Given the description of an element on the screen output the (x, y) to click on. 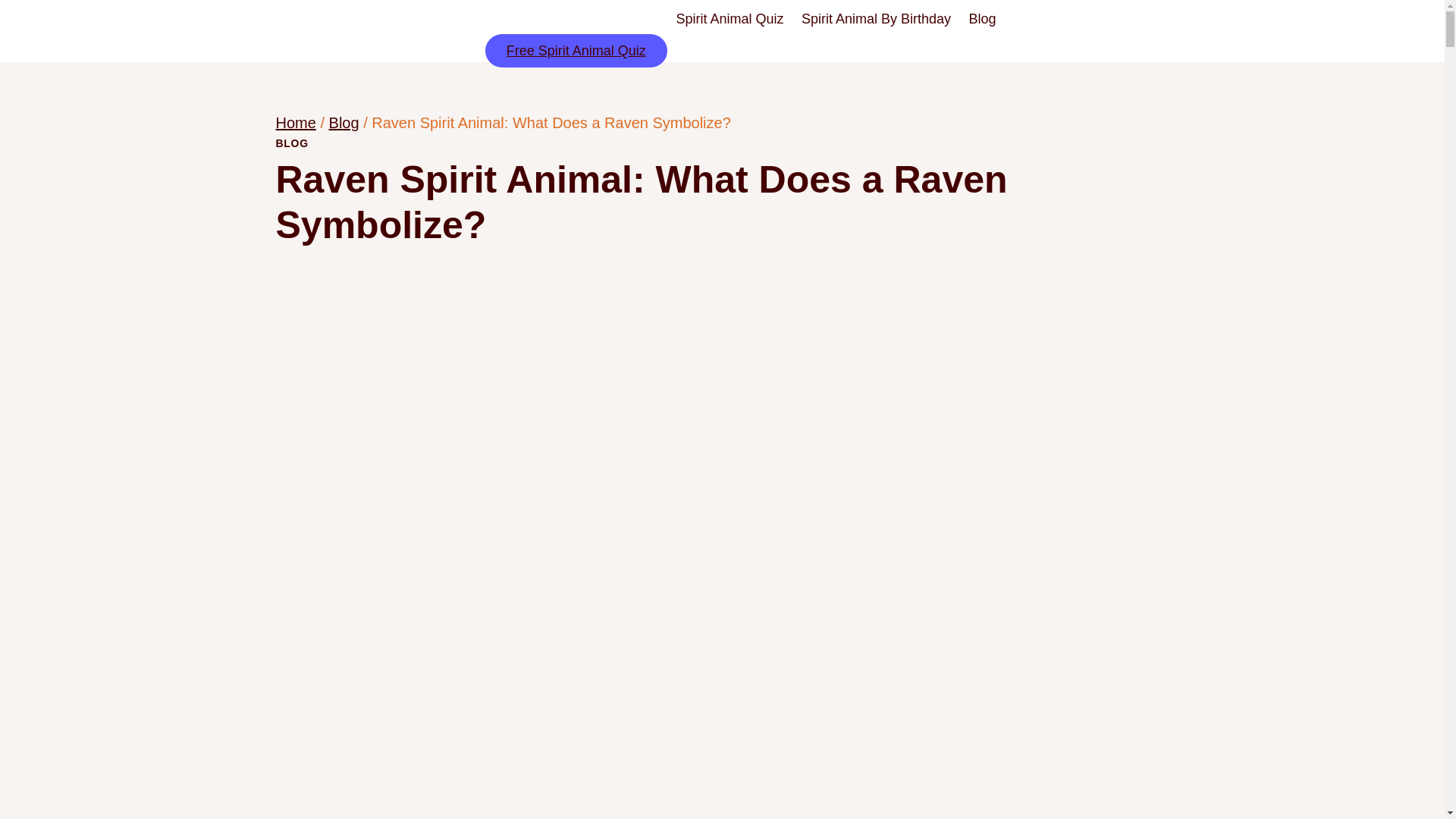
Blog (344, 122)
BLOG (292, 143)
Spirit Animal Quiz (729, 19)
Free Spirit Animal Quiz (575, 50)
Blog (981, 19)
Spirit Animal By Birthday (875, 19)
Home (295, 122)
